Given the description of an element on the screen output the (x, y) to click on. 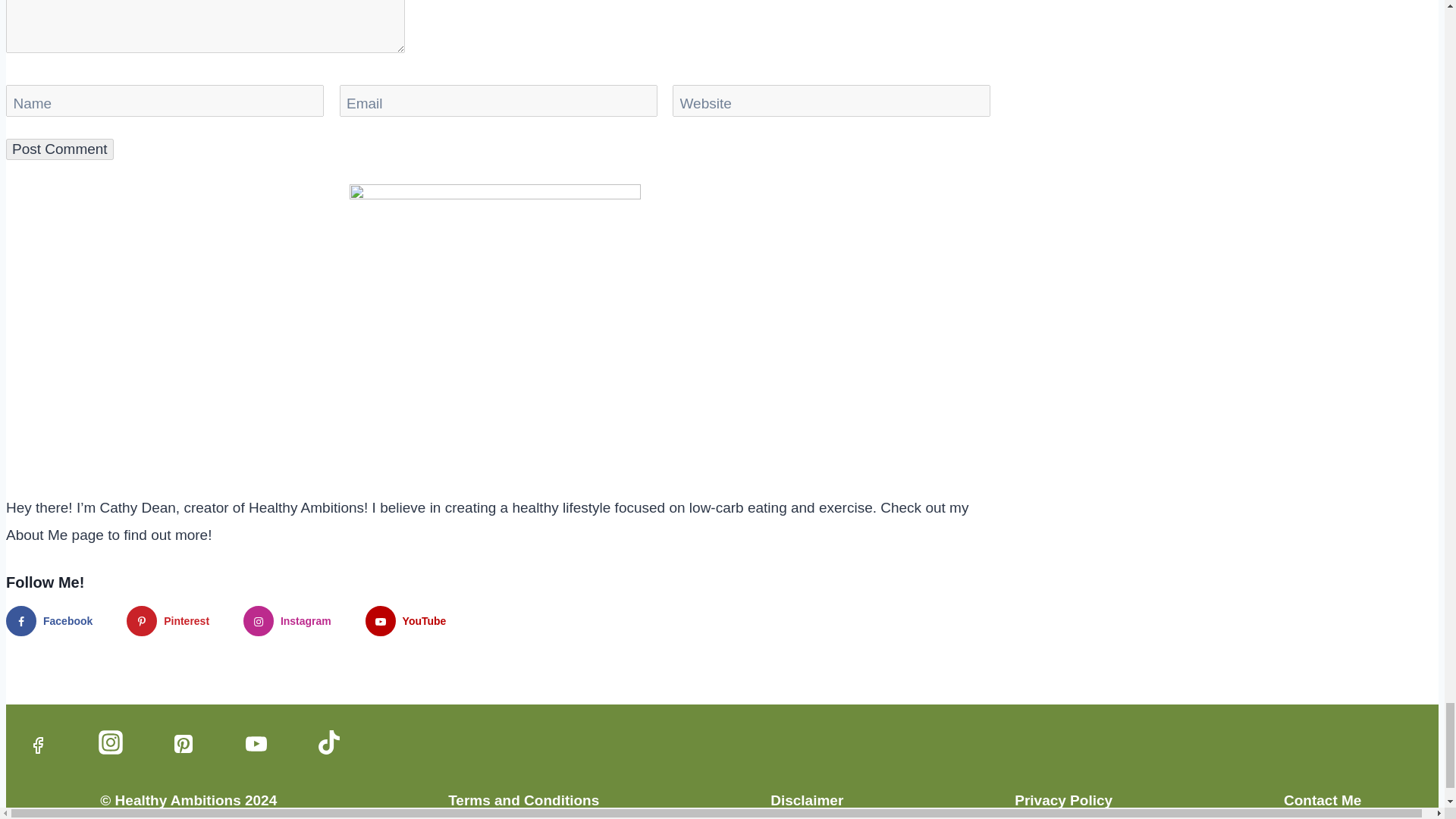
Follow on Pinterest (175, 621)
YouTube (256, 743)
TikTok (328, 742)
Follow on YouTube (413, 621)
Facebook (37, 745)
Follow on Instagram (294, 621)
Follow on Facebook (55, 621)
Pinterest (183, 743)
Post Comment (59, 148)
Instagram (110, 742)
